Given the description of an element on the screen output the (x, y) to click on. 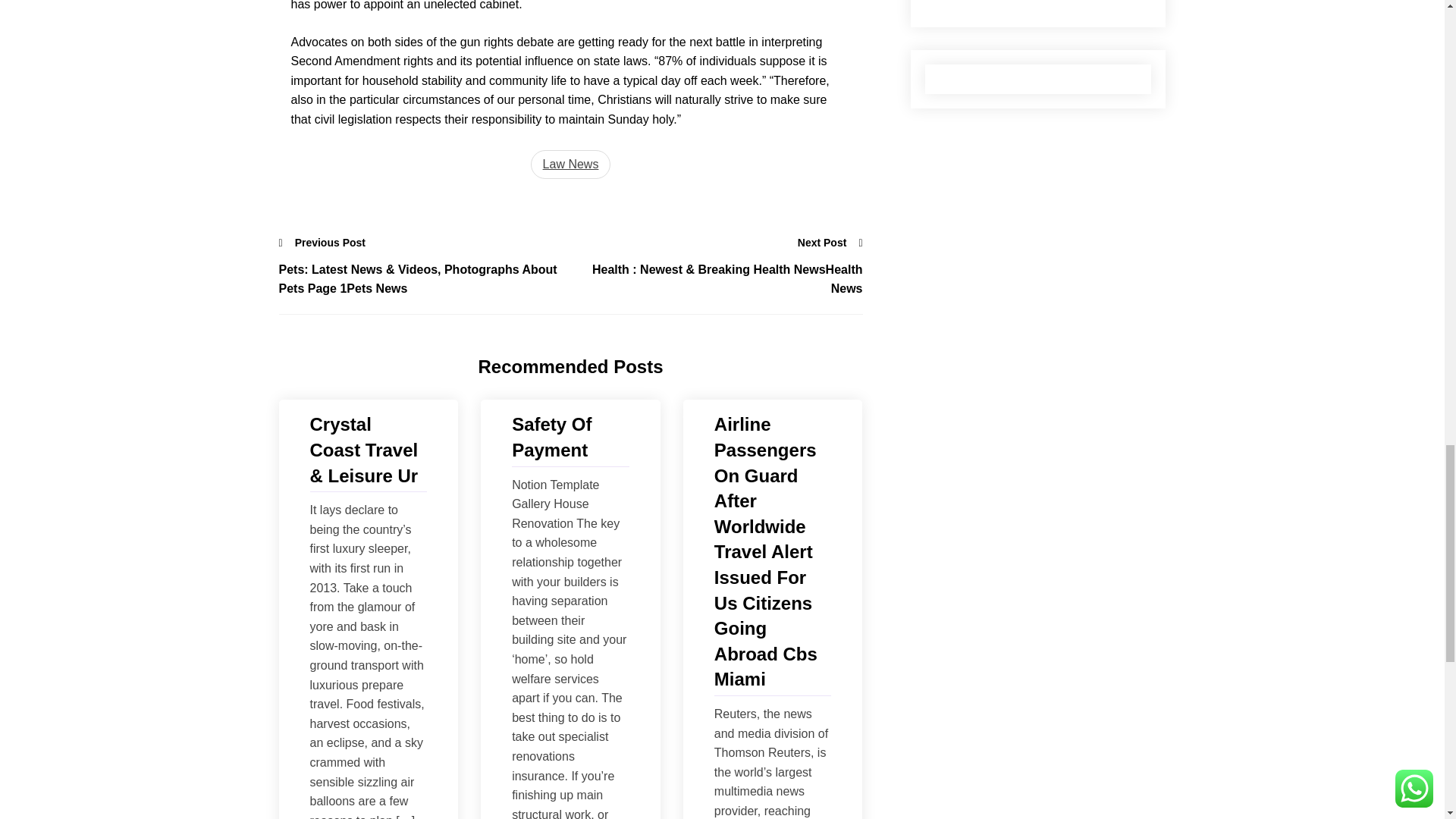
Next Post (830, 242)
Safety Of Payment (570, 436)
Previous Post (322, 242)
Law News (571, 164)
